Given the description of an element on the screen output the (x, y) to click on. 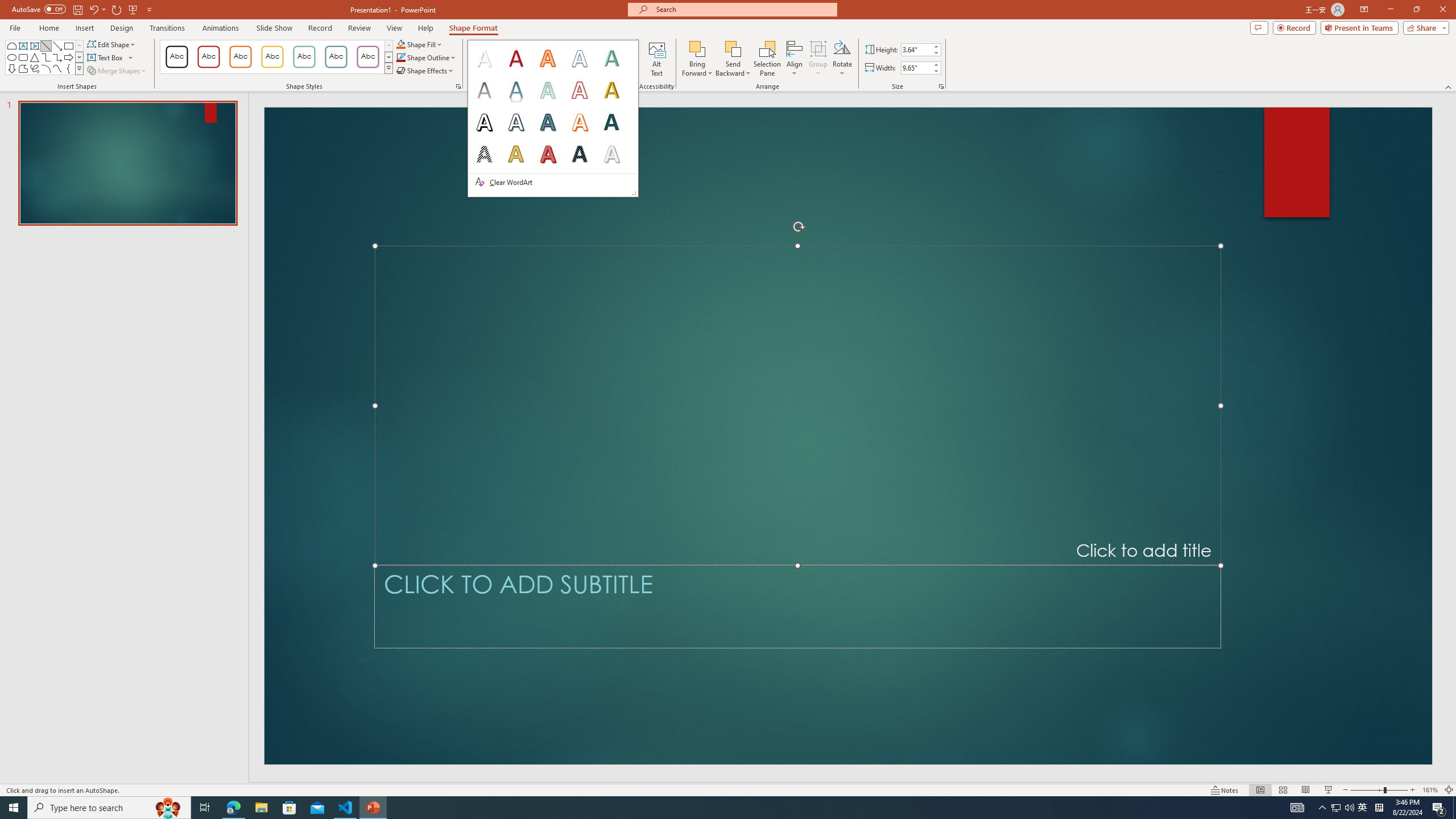
Selection Pane... (767, 58)
Subtitle TextBox (797, 606)
Colored Outline - Orange, Accent 2 (240, 56)
Edit Shape (112, 44)
